Given the description of an element on the screen output the (x, y) to click on. 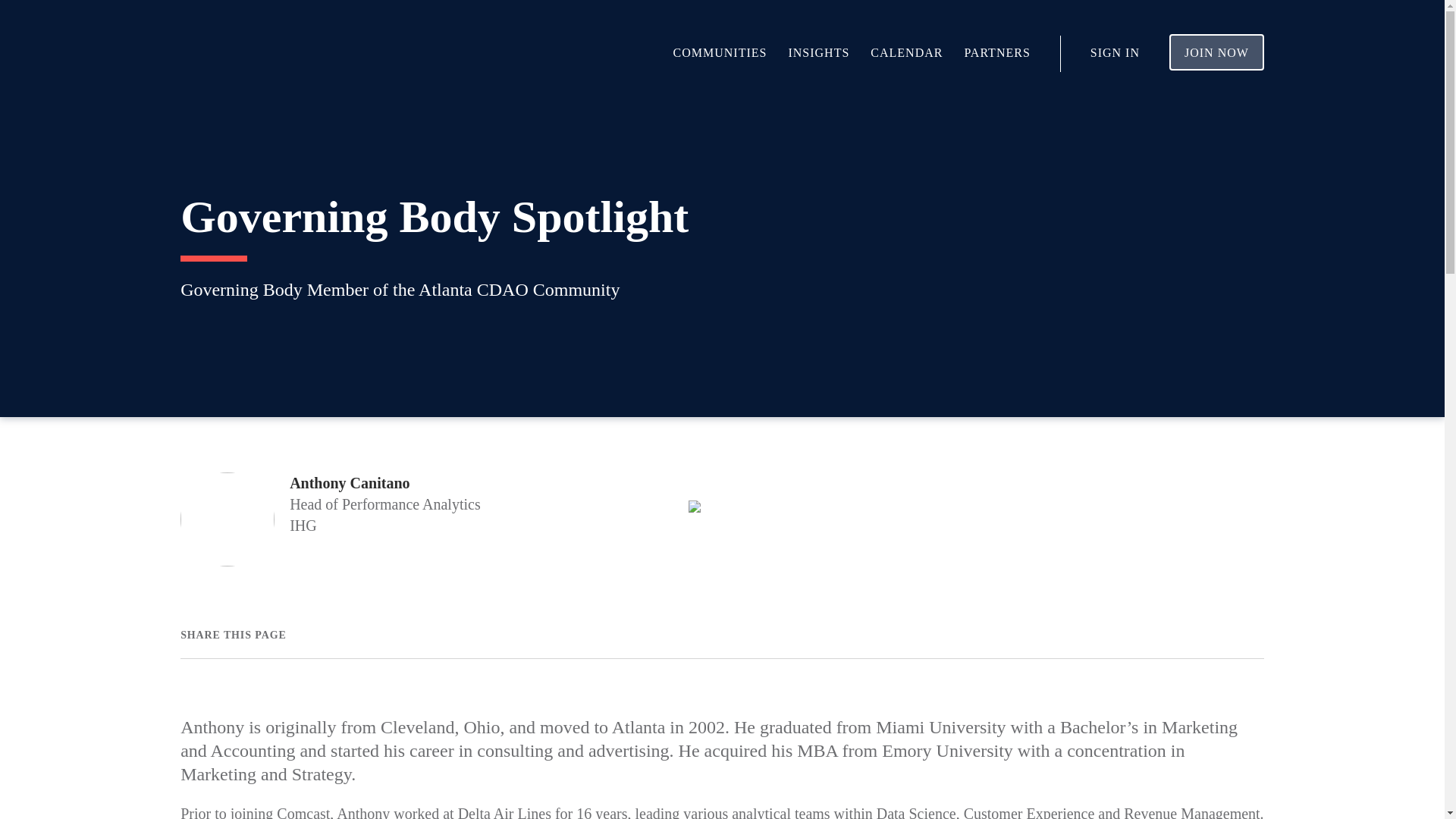
COMMUNITIES (719, 52)
PARTNERS (996, 52)
evanta (233, 53)
JOIN NOW (1216, 52)
INSIGHTS (817, 52)
SIGN IN (1114, 52)
CALENDAR (905, 52)
